Given the description of an element on the screen output the (x, y) to click on. 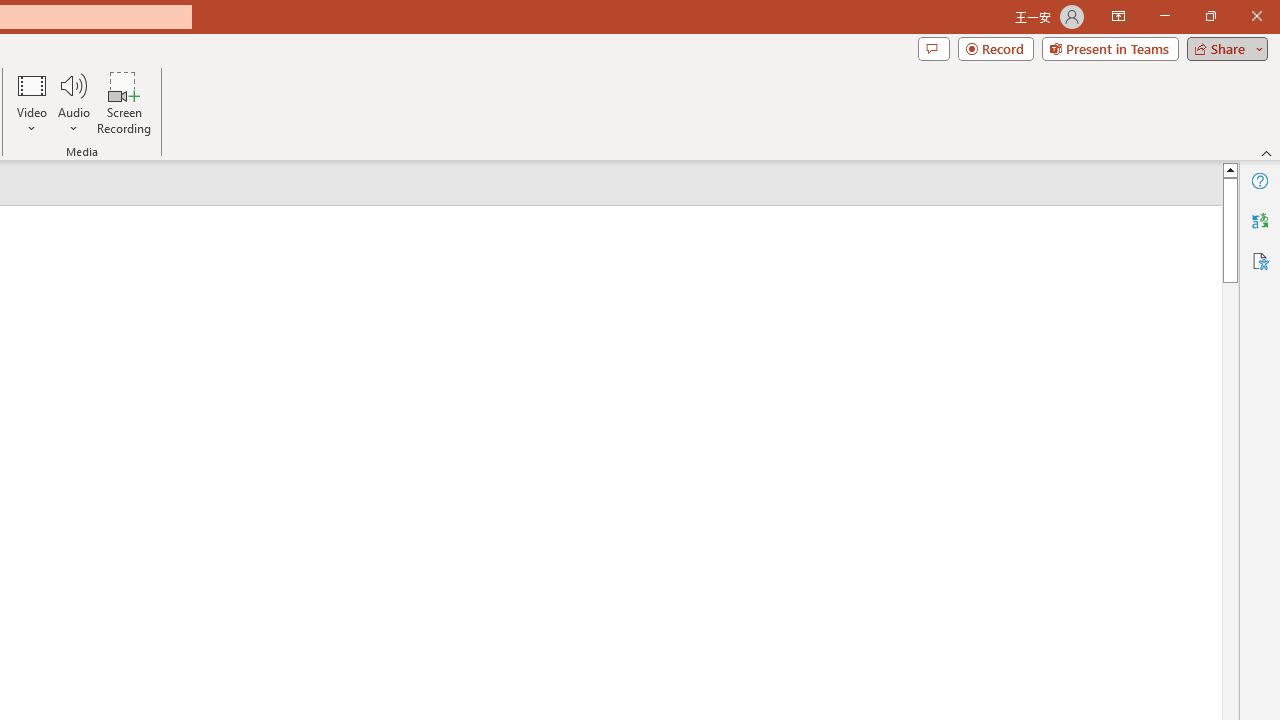
Screen Recording... (123, 102)
Video (31, 102)
